Given the description of an element on the screen output the (x, y) to click on. 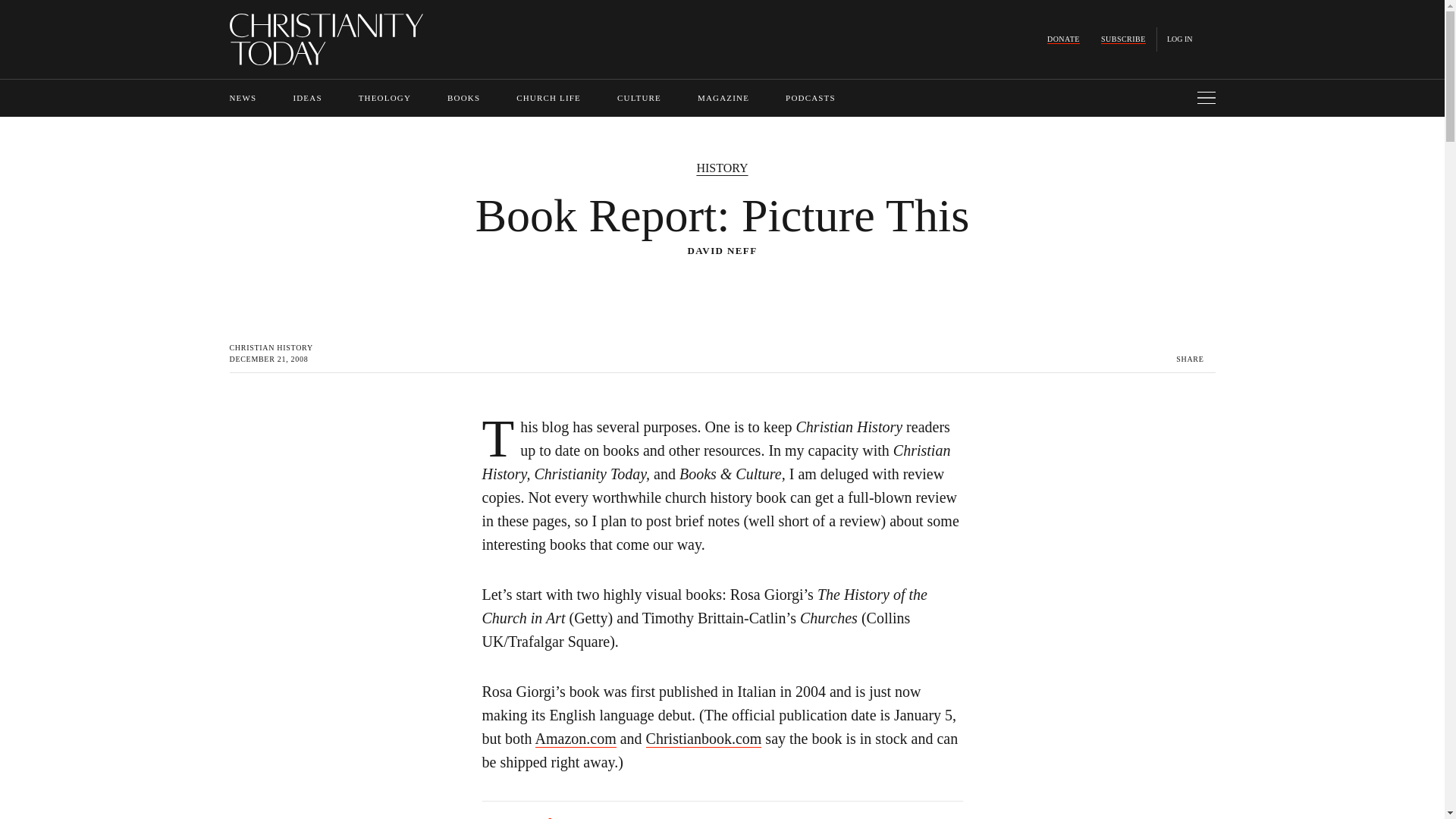
CHURCH LIFE (548, 97)
PODCASTS (810, 97)
SUBSCRIBE (1122, 39)
NEWS (242, 97)
IDEAS (306, 97)
DONATE (1063, 39)
THEOLOGY (384, 97)
CULTURE (639, 97)
LOG IN (1179, 39)
BOOKS (463, 97)
